Given the description of an element on the screen output the (x, y) to click on. 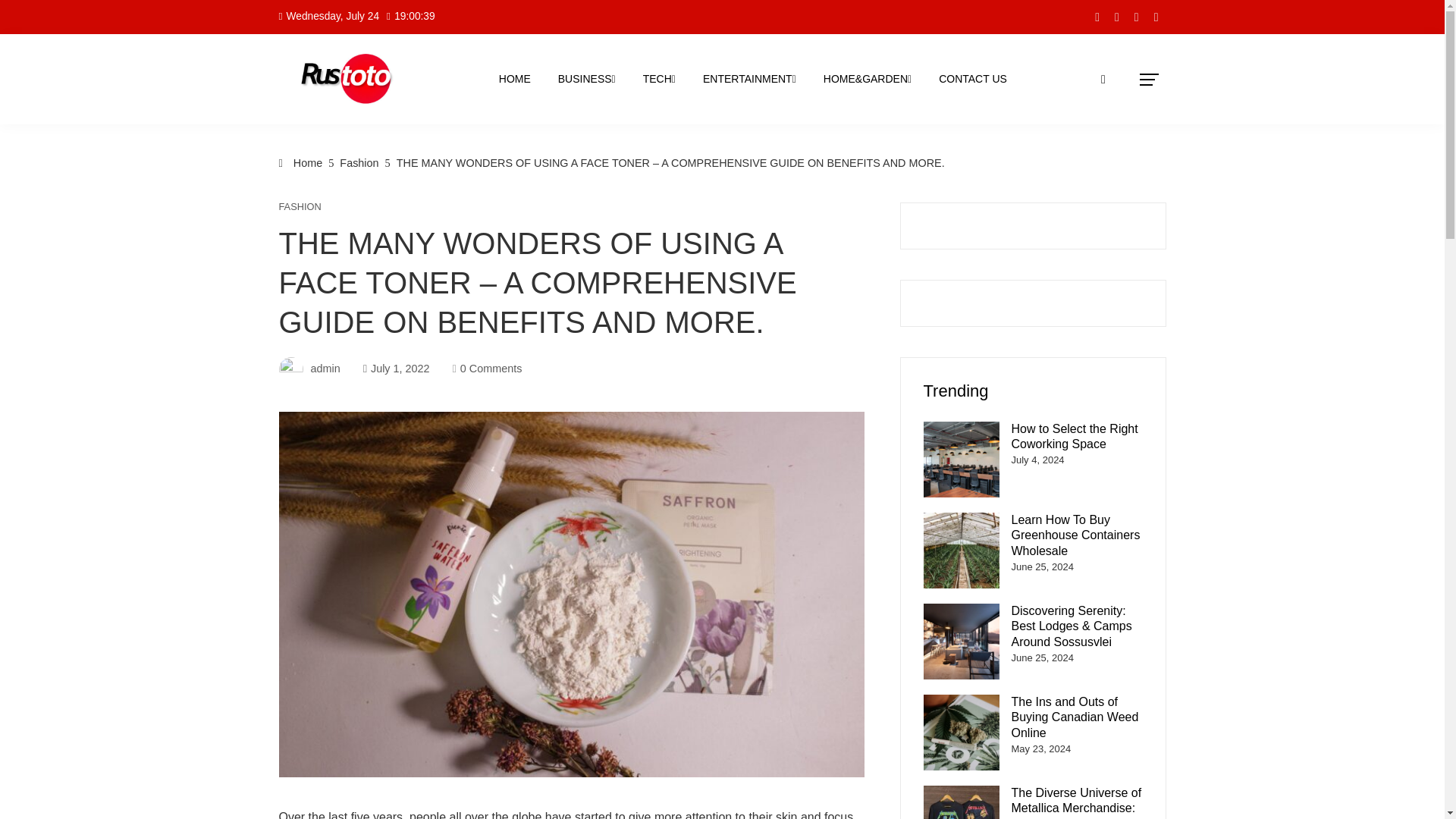
HOME (514, 79)
ENTERTAINMENT (749, 79)
TECH (659, 79)
CONTACT US (972, 79)
BUSINESS (587, 79)
